Given the description of an element on the screen output the (x, y) to click on. 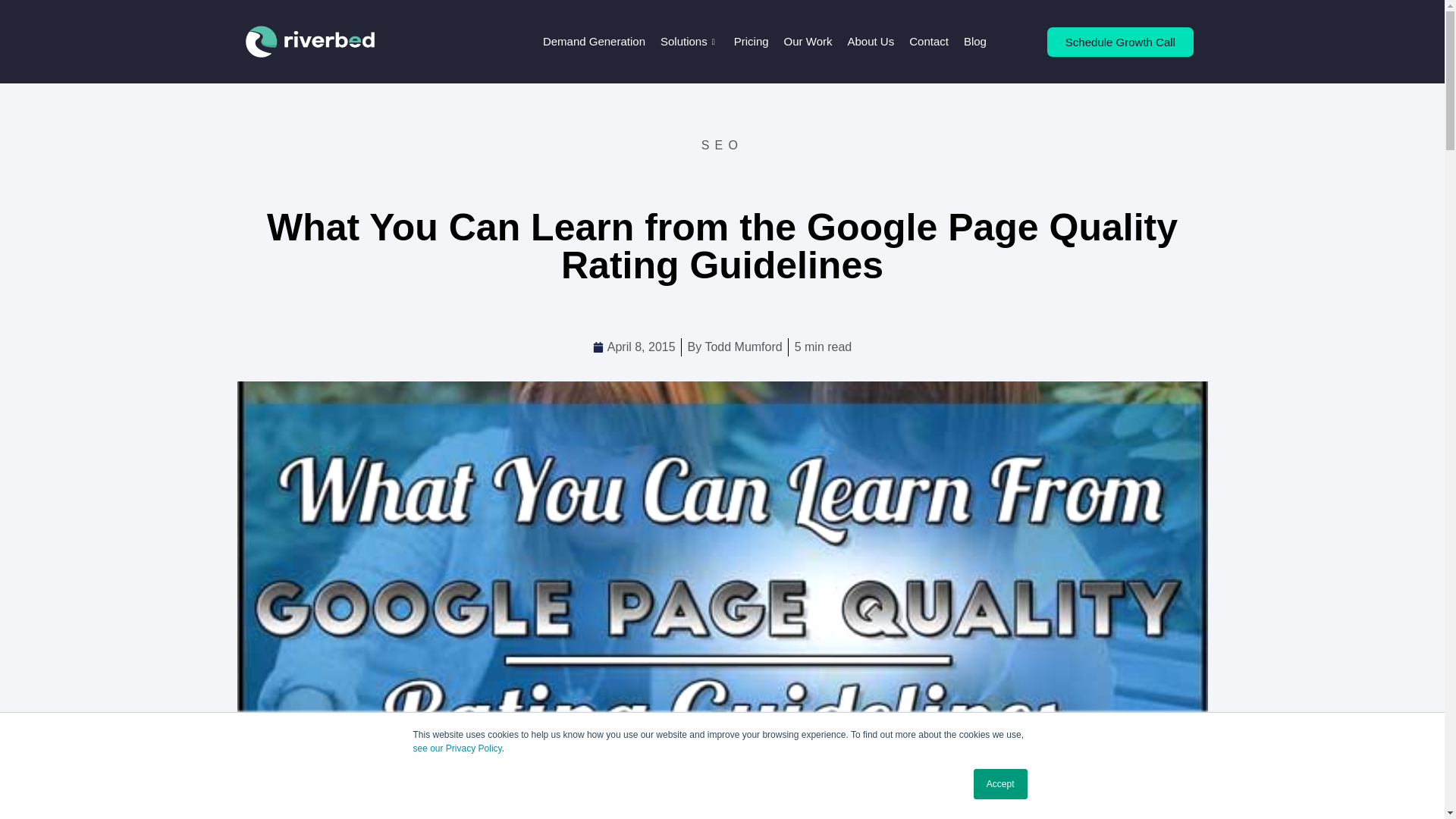
Our Work (808, 41)
see our Privacy Policy (456, 747)
About Us (871, 41)
Schedule Growth Call (1119, 41)
Demand Generation (593, 41)
Solutions (689, 41)
Contact (928, 41)
Accept (1000, 784)
